Given the description of an element on the screen output the (x, y) to click on. 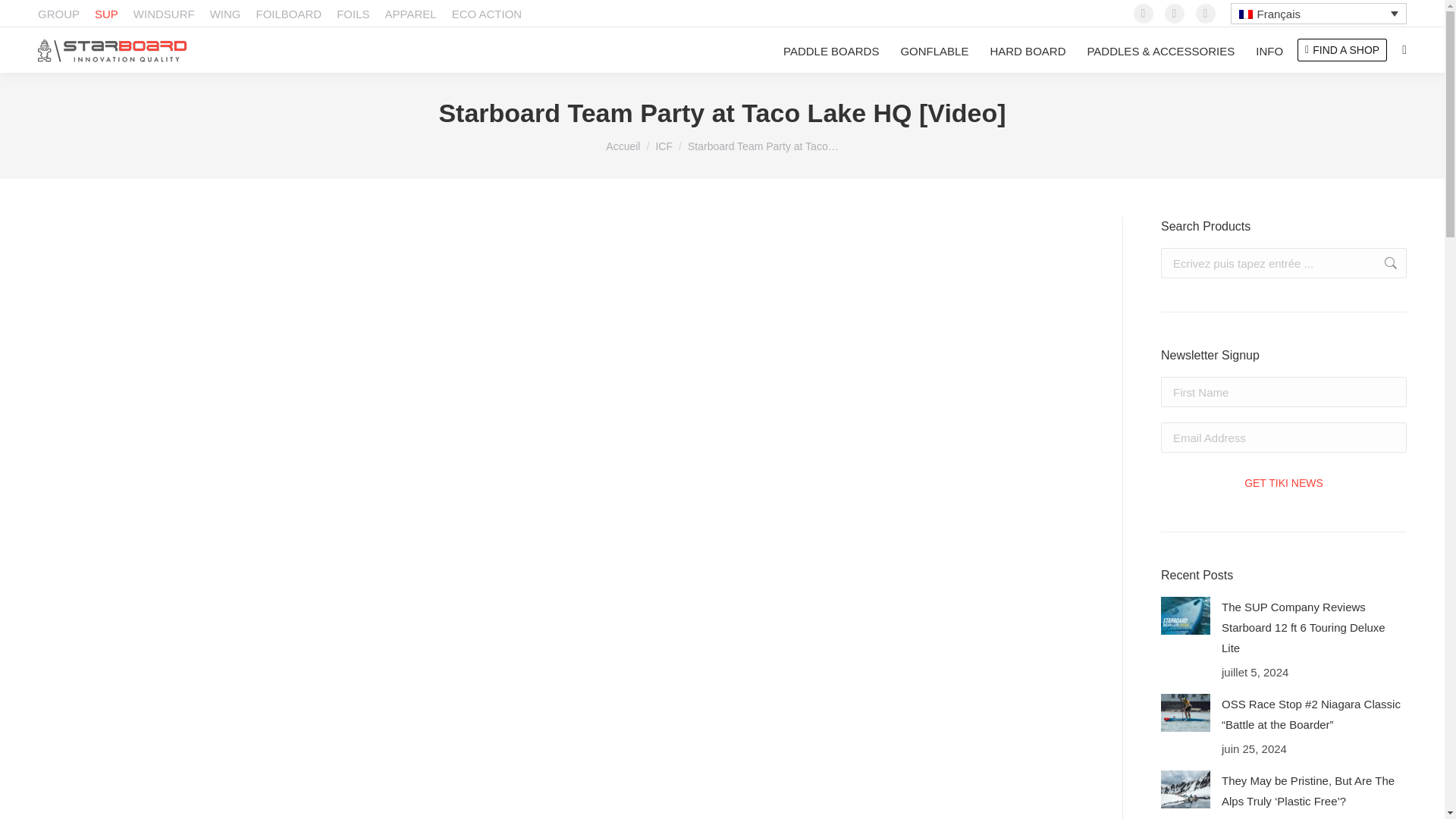
APPAREL (410, 13)
ICF (663, 146)
WINDSURF (164, 13)
Facebook page opens in new window (1143, 13)
ECO ACTION (486, 13)
YouTube page opens in new window (1205, 13)
YouTube page opens in new window (1205, 13)
Go! (1382, 263)
Accueil (622, 146)
FOILS (352, 13)
GONFLABLE (933, 50)
Instagram page opens in new window (1174, 13)
Go! (1382, 263)
GET TIKI NEWS (1283, 482)
FOILBOARD (288, 13)
